Given the description of an element on the screen output the (x, y) to click on. 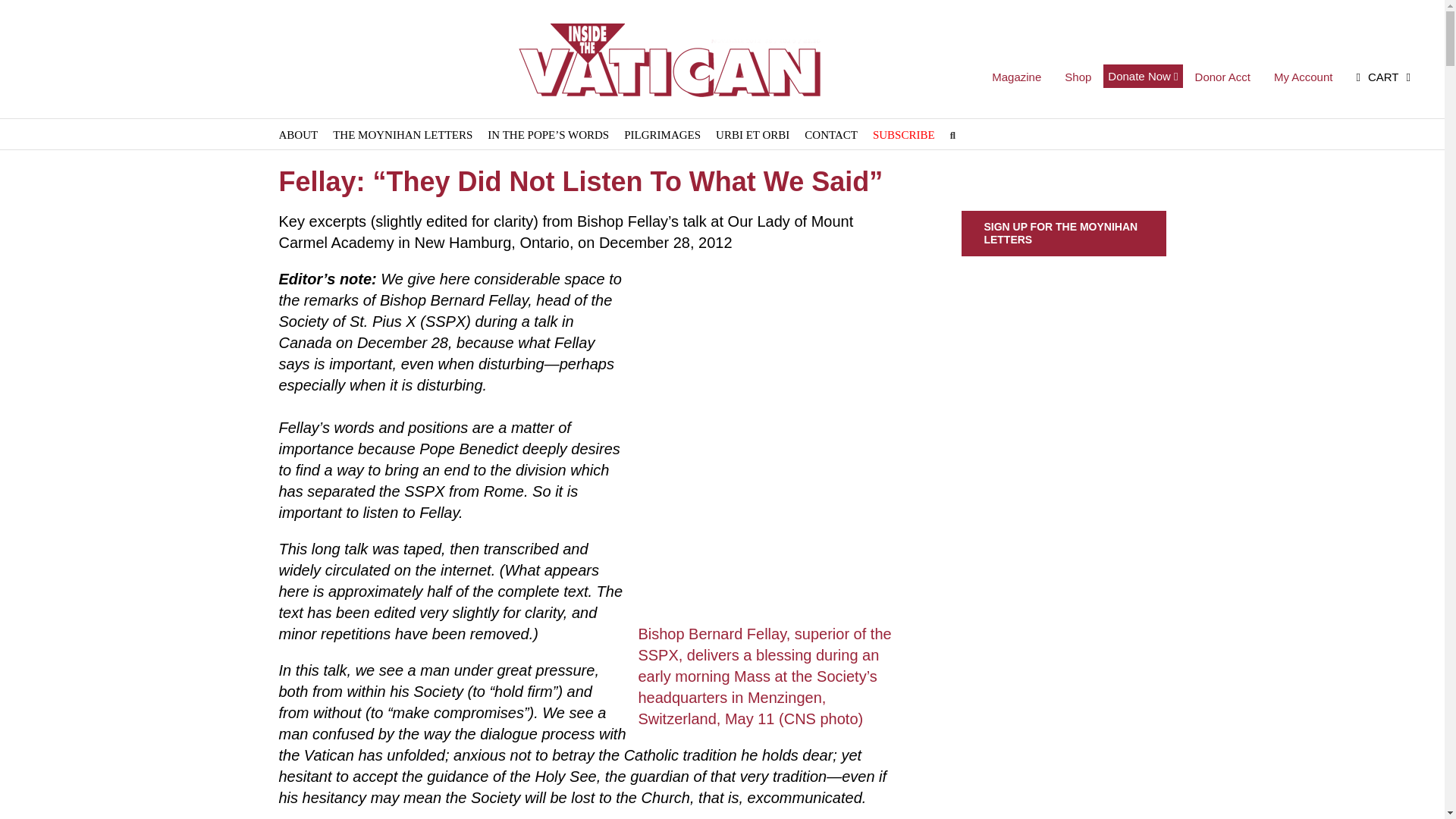
Donate Now (1142, 75)
Log In (1352, 219)
My Account (1302, 78)
Shop (1077, 78)
Magazine (1015, 78)
Donor Acct (1222, 78)
